Given the description of an element on the screen output the (x, y) to click on. 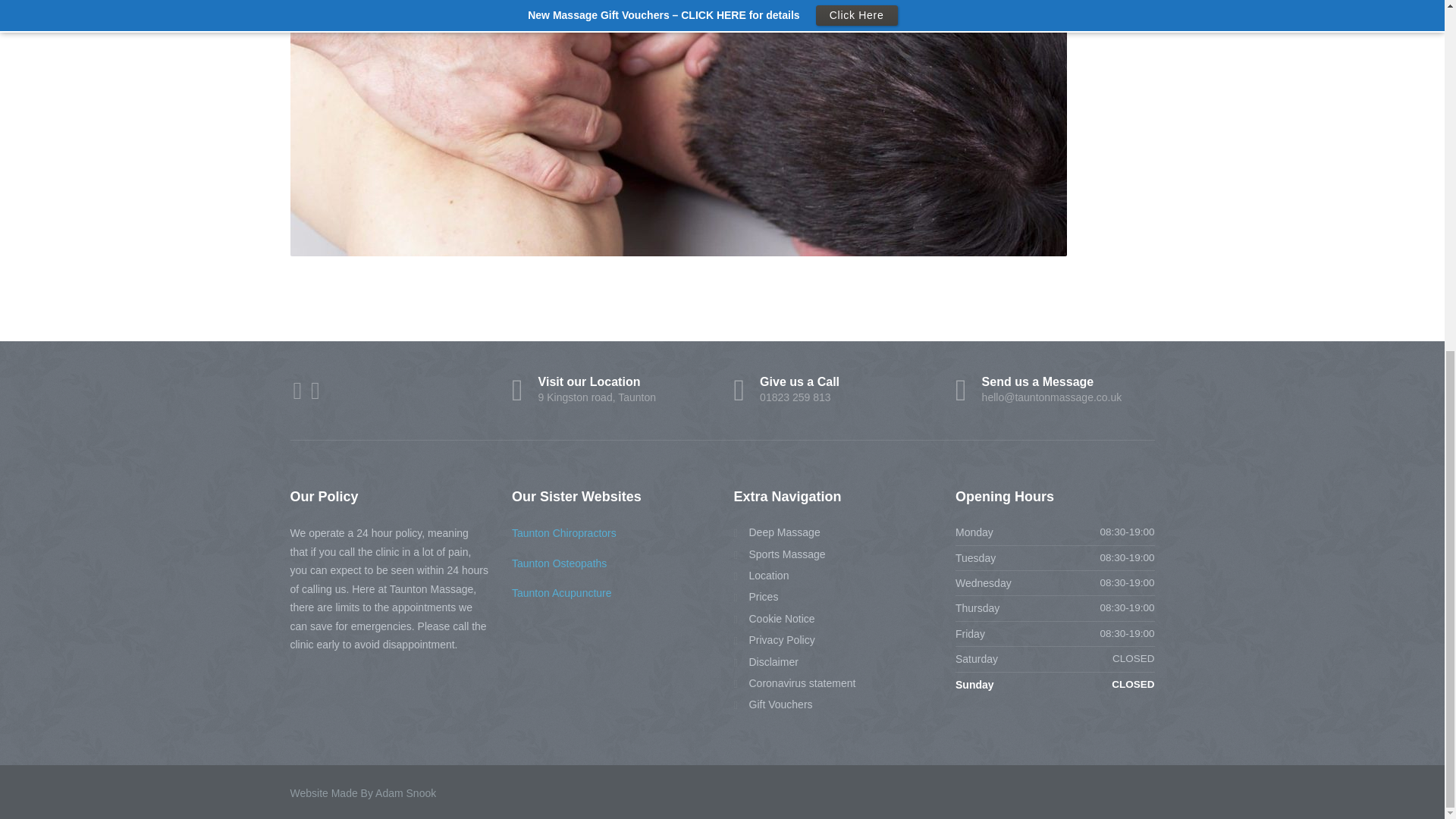
Privacy Policy (611, 390)
Sports Massage (774, 639)
Location (779, 553)
Coronavirus statement (761, 574)
Disclaimer (794, 682)
Taunton Osteopaths (765, 660)
Cookie Notice (559, 562)
Taunton Acupuncture (774, 617)
Gift Vouchers (561, 592)
Prices (772, 704)
Deep Massage (833, 390)
Taunton Chiropractors (755, 596)
